Given the description of an element on the screen output the (x, y) to click on. 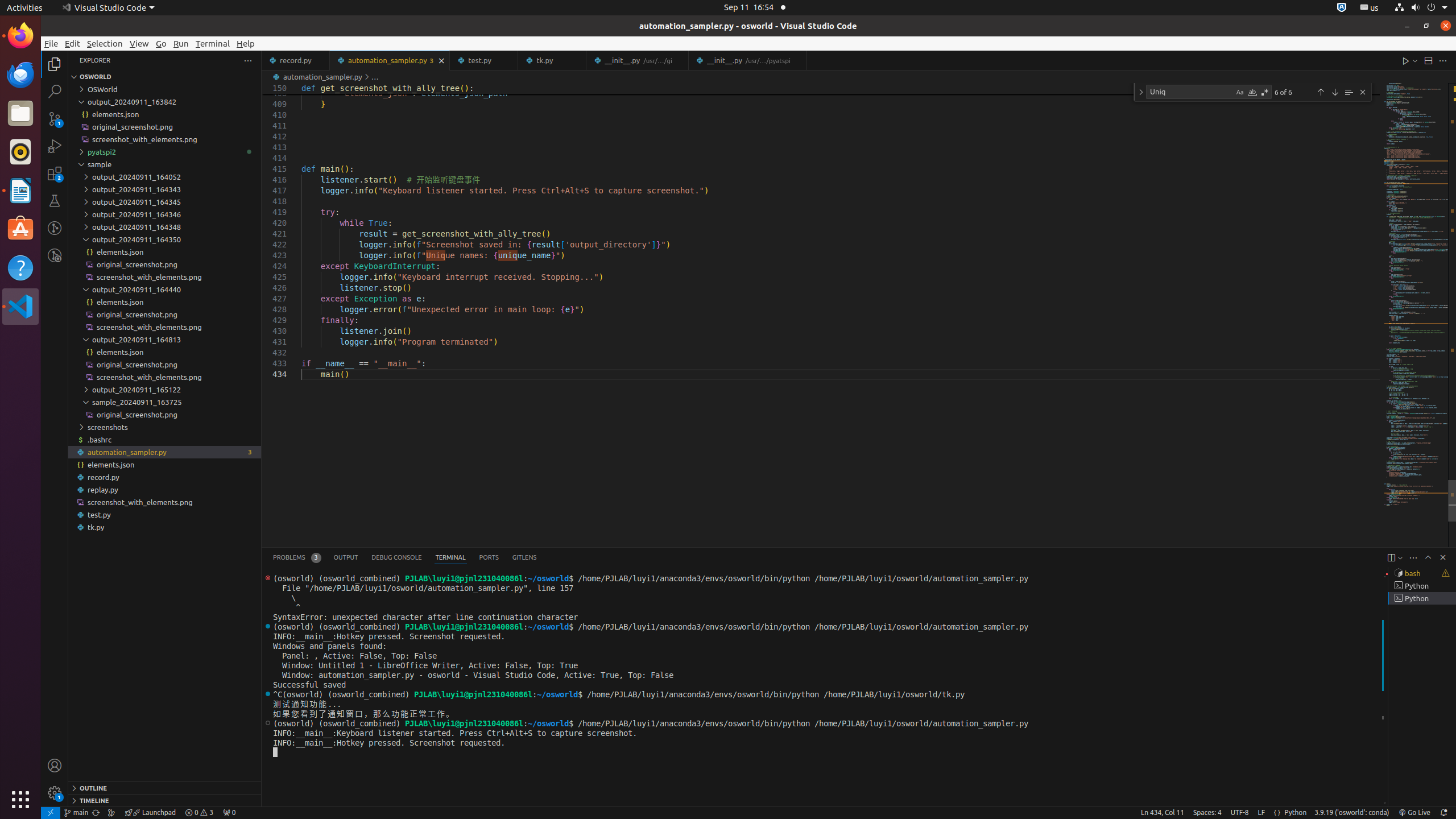
Next Match (Enter) Element type: push-button (1334, 91)
